Given the description of an element on the screen output the (x, y) to click on. 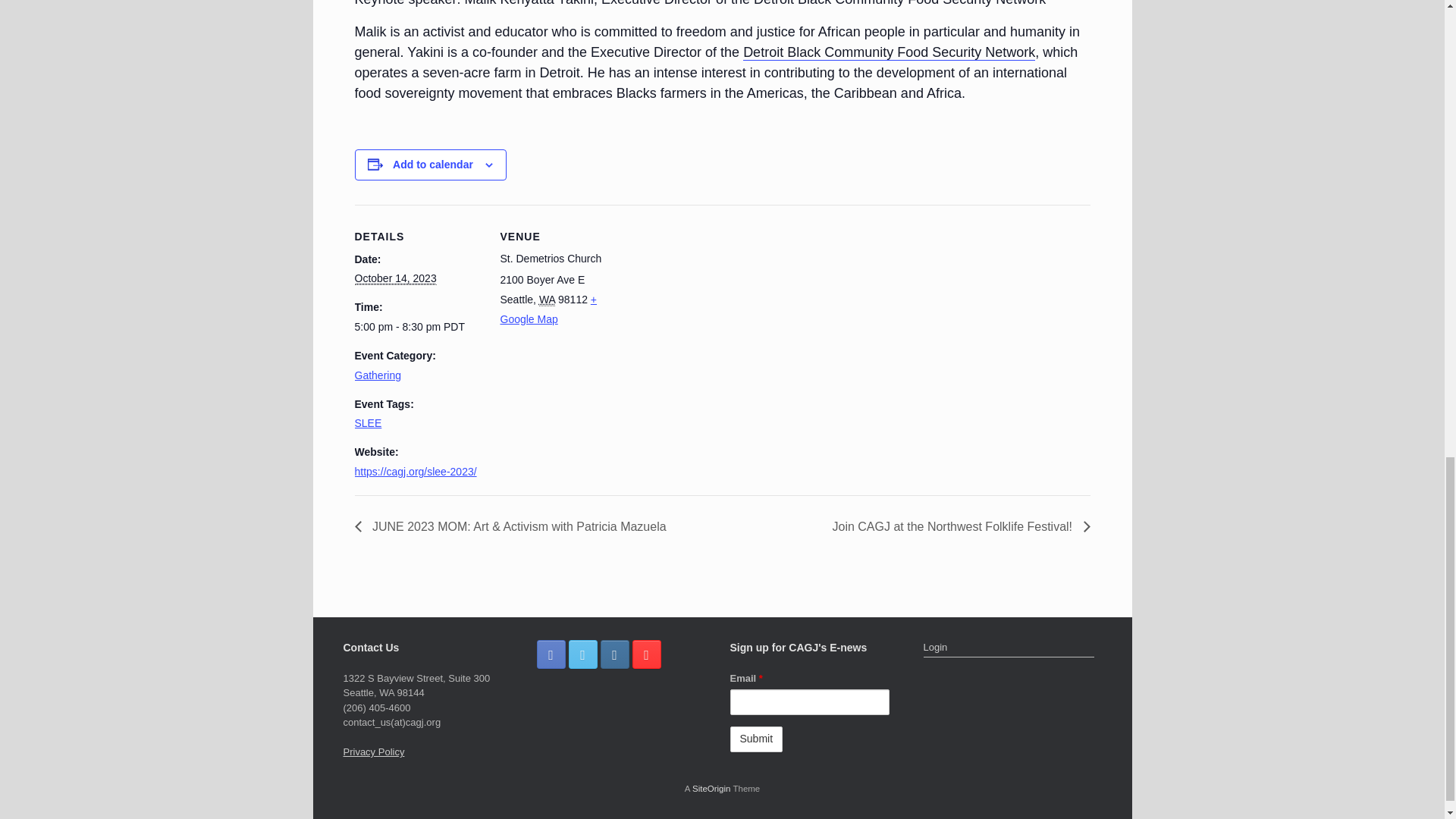
Community Alliance for Global Justice Instagram (613, 654)
Submit (756, 739)
Click to view a Google Map (548, 309)
Community Alliance for Global Justice Facebook (551, 654)
2023-10-14 (395, 278)
2023-10-14 (418, 326)
Washington (546, 299)
